Given the description of an element on the screen output the (x, y) to click on. 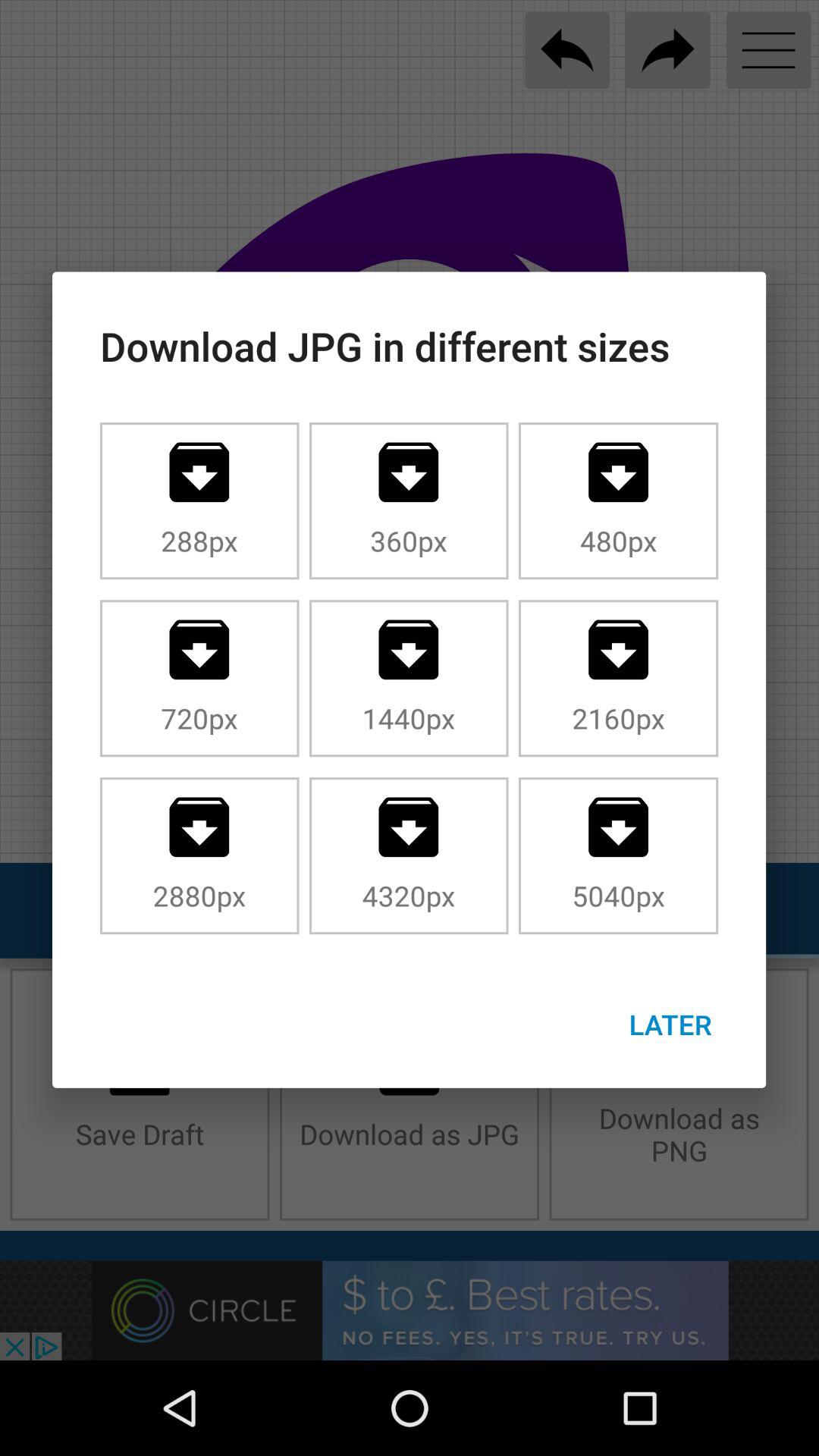
open the later item (670, 1024)
